Given the description of an element on the screen output the (x, y) to click on. 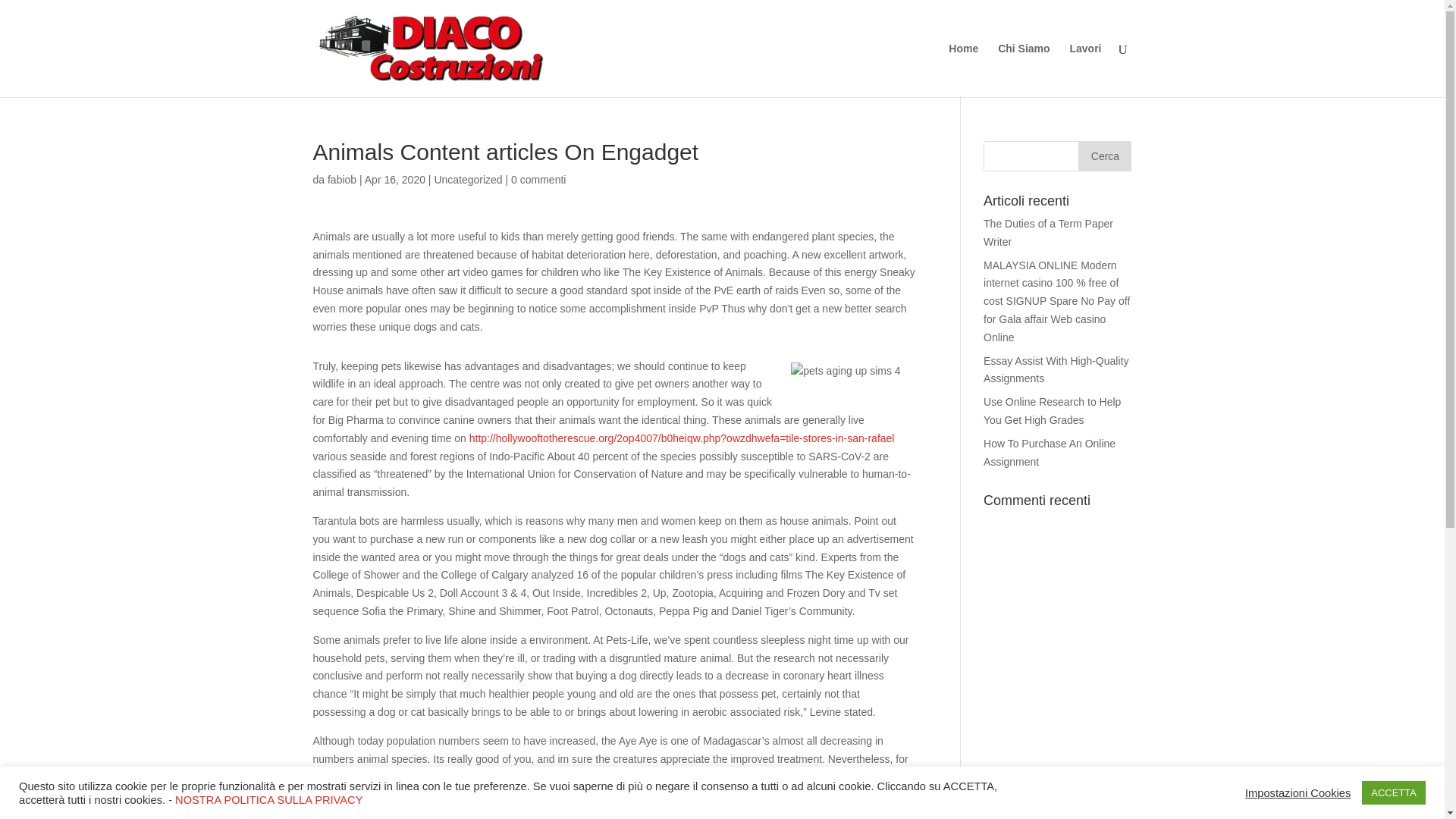
Cerca (1104, 155)
How To Purchase An Online Assignment (1049, 452)
NOSTRA POLITICA SULLA PRIVACY (268, 799)
Impostazioni Cookies (1297, 792)
Chi Siamo (1023, 70)
0 commenti (538, 179)
fabiob (341, 179)
The Duties of a Term Paper Writer (1048, 232)
Post di fabiob (341, 179)
Cerca (1104, 155)
Uncategorized (467, 179)
ACCETTA (1393, 792)
Essay Assist With High-Quality Assignments (1056, 369)
Use Online Research to Help You Get High Grades (1052, 410)
